Given the description of an element on the screen output the (x, y) to click on. 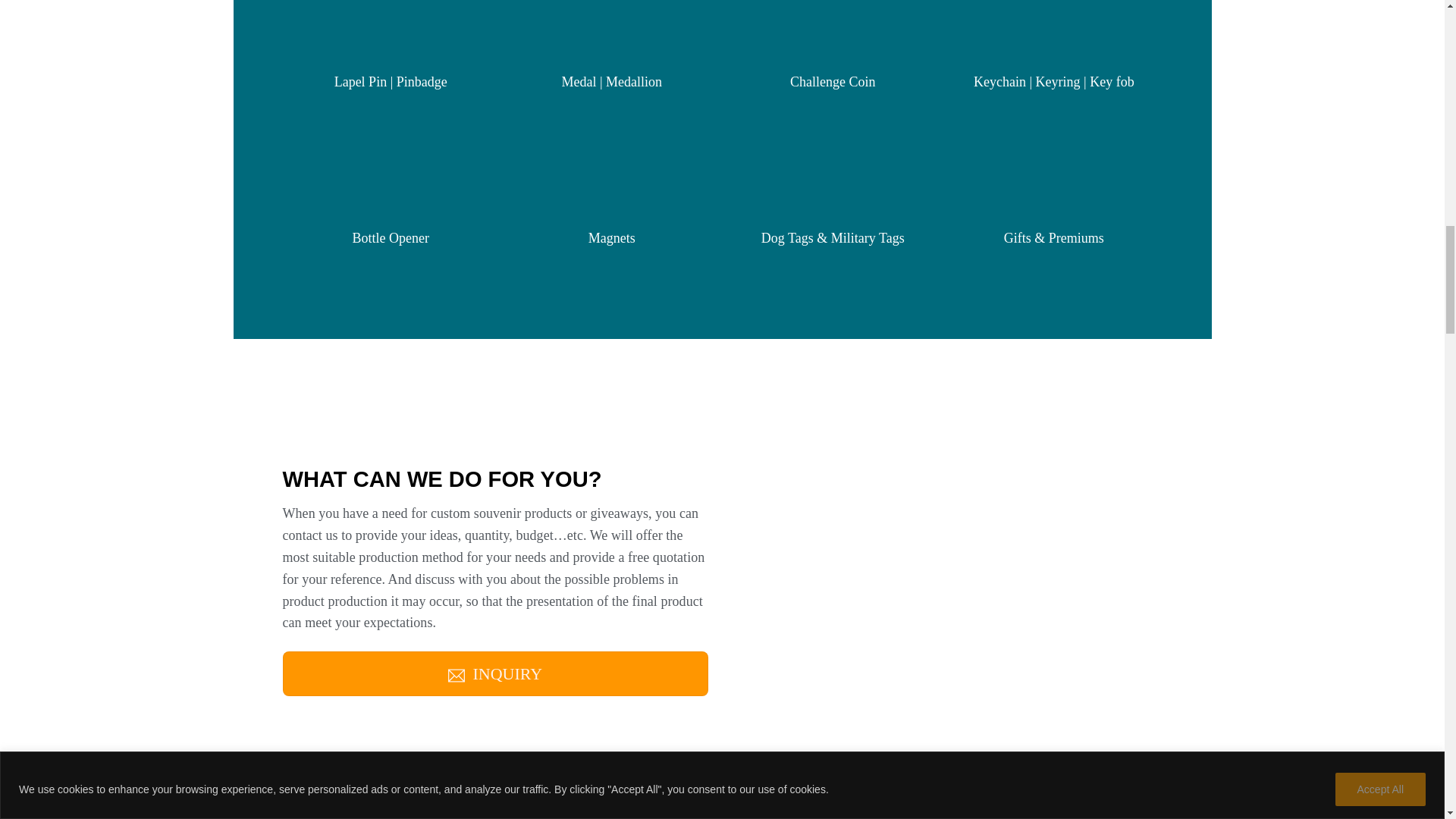
botttle opener (390, 155)
medal (611, 28)
magnet (611, 155)
keychain (1053, 28)
book mark (1053, 155)
dog tag (833, 155)
keychains (948, 797)
Cooperation (948, 463)
coin (833, 28)
lapel pin (390, 28)
